Given the description of an element on the screen output the (x, y) to click on. 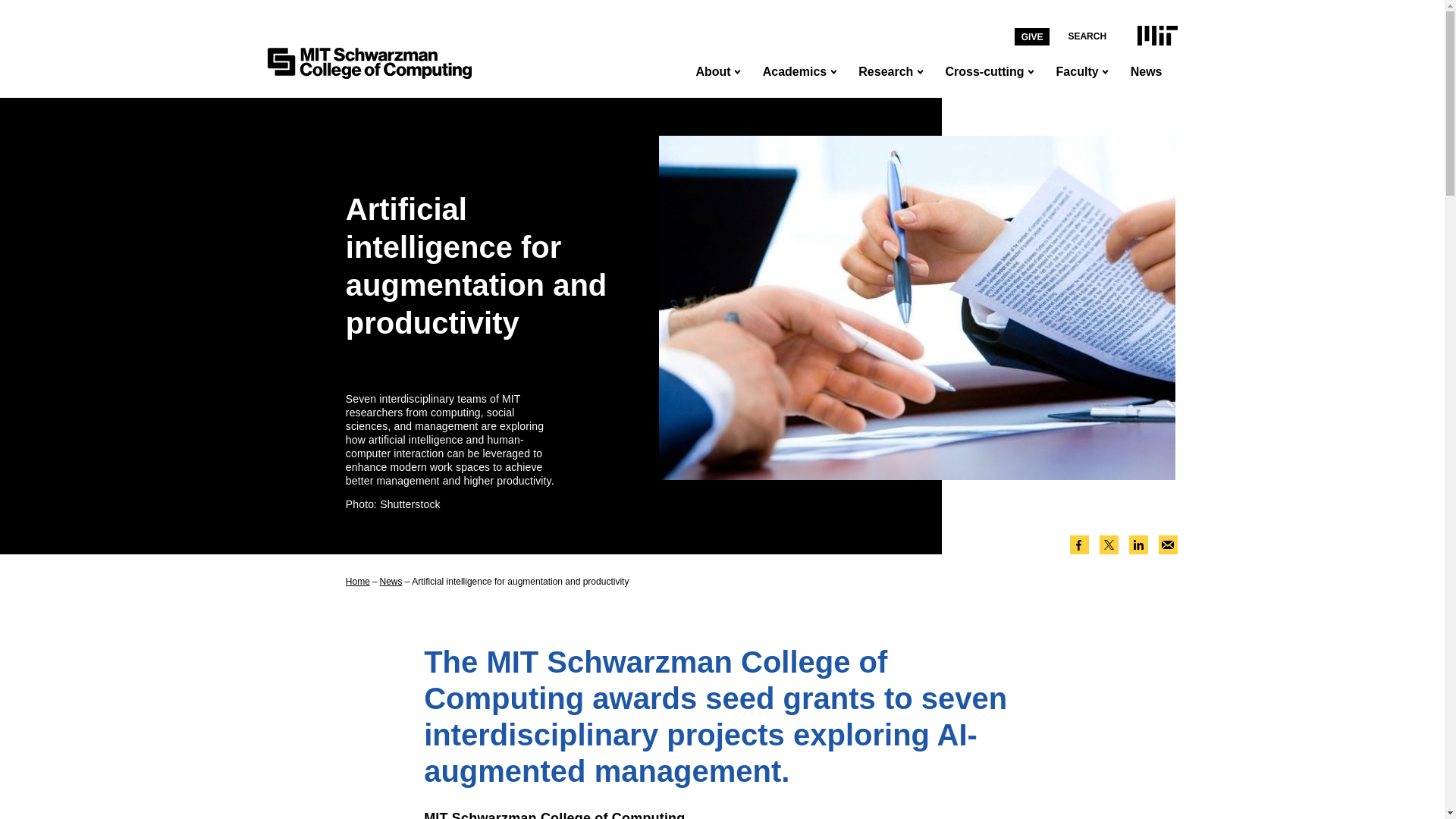
Academics (793, 71)
LinkedIn (1137, 544)
MIT Homepage (1156, 35)
X (1108, 544)
About (711, 71)
Cross-cutting (982, 71)
Research (884, 71)
Facebook (1077, 544)
MIT Schwarzman College of Computing (368, 62)
SEARCH (1086, 36)
Email (1167, 544)
GIVE (1031, 36)
